Given the description of an element on the screen output the (x, y) to click on. 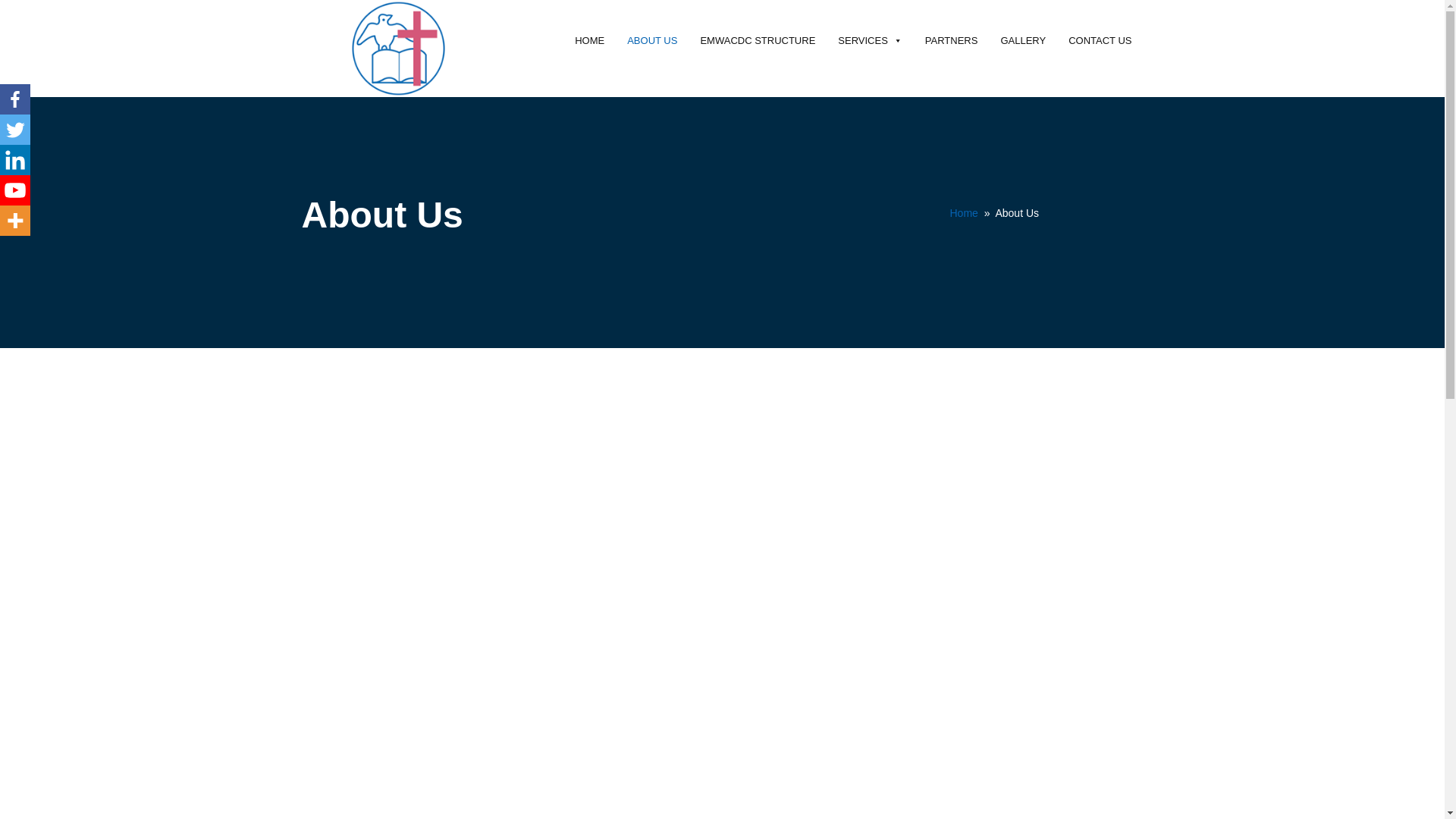
Twitter (15, 129)
PARTNERS (952, 40)
Home (962, 213)
EMWACDC STRUCTURE (757, 40)
More (15, 220)
Linkedin (15, 159)
Youtube (15, 190)
CONTACT US (1099, 40)
GALLERY (1022, 40)
SERVICES (870, 40)
